Given the description of an element on the screen output the (x, y) to click on. 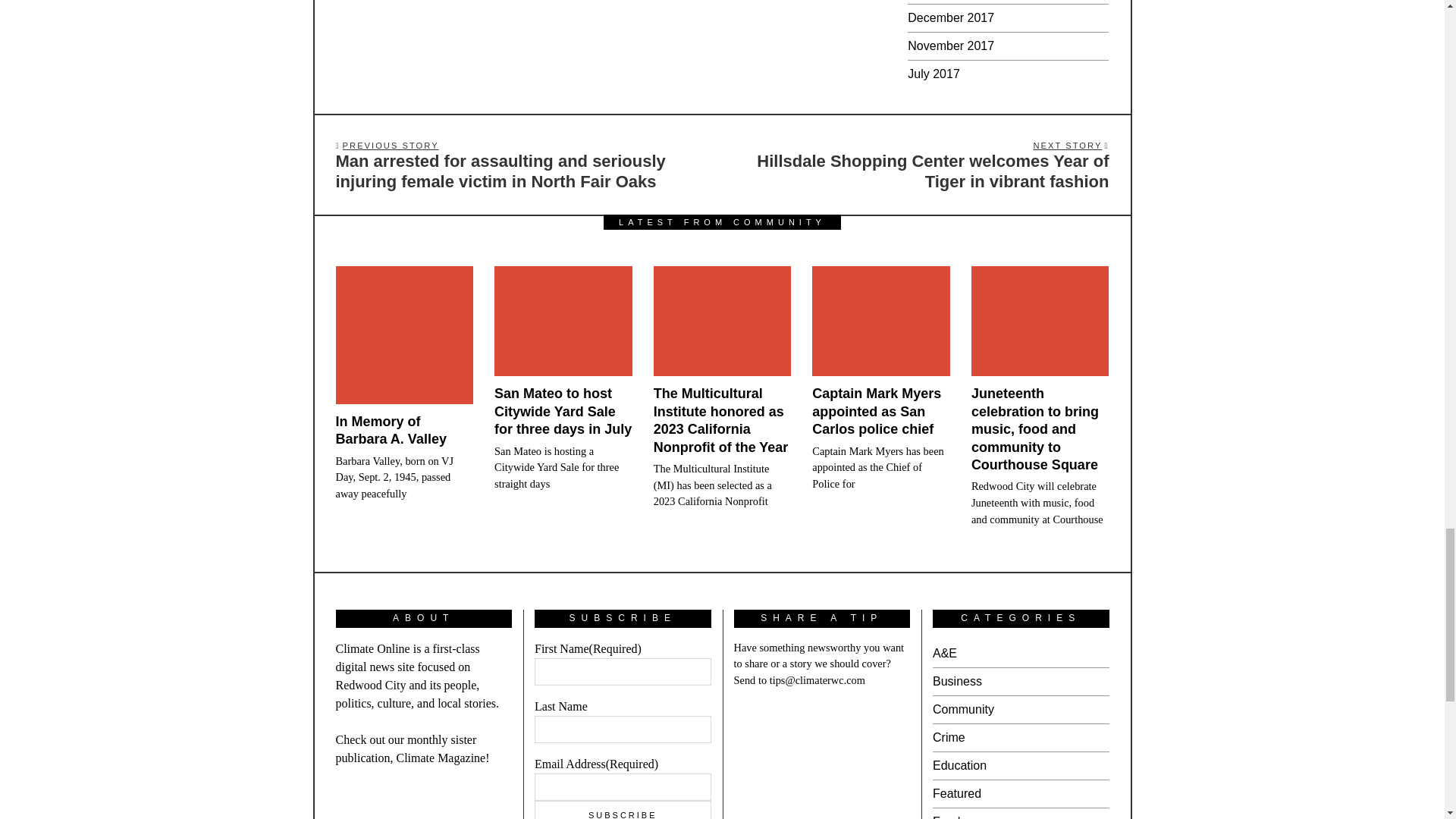
Subscribe (622, 809)
